Given the description of an element on the screen output the (x, y) to click on. 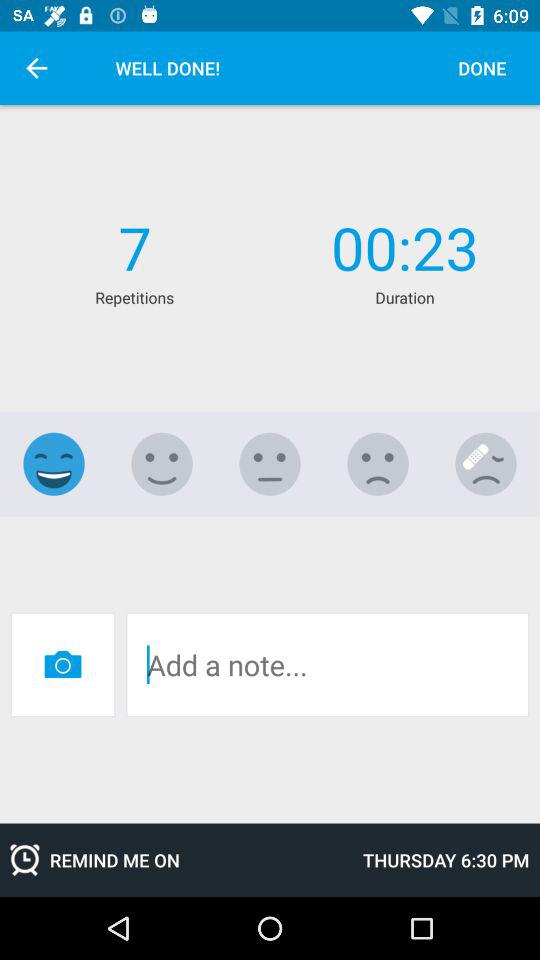
open thursday 6 30 (446, 859)
